Given the description of an element on the screen output the (x, y) to click on. 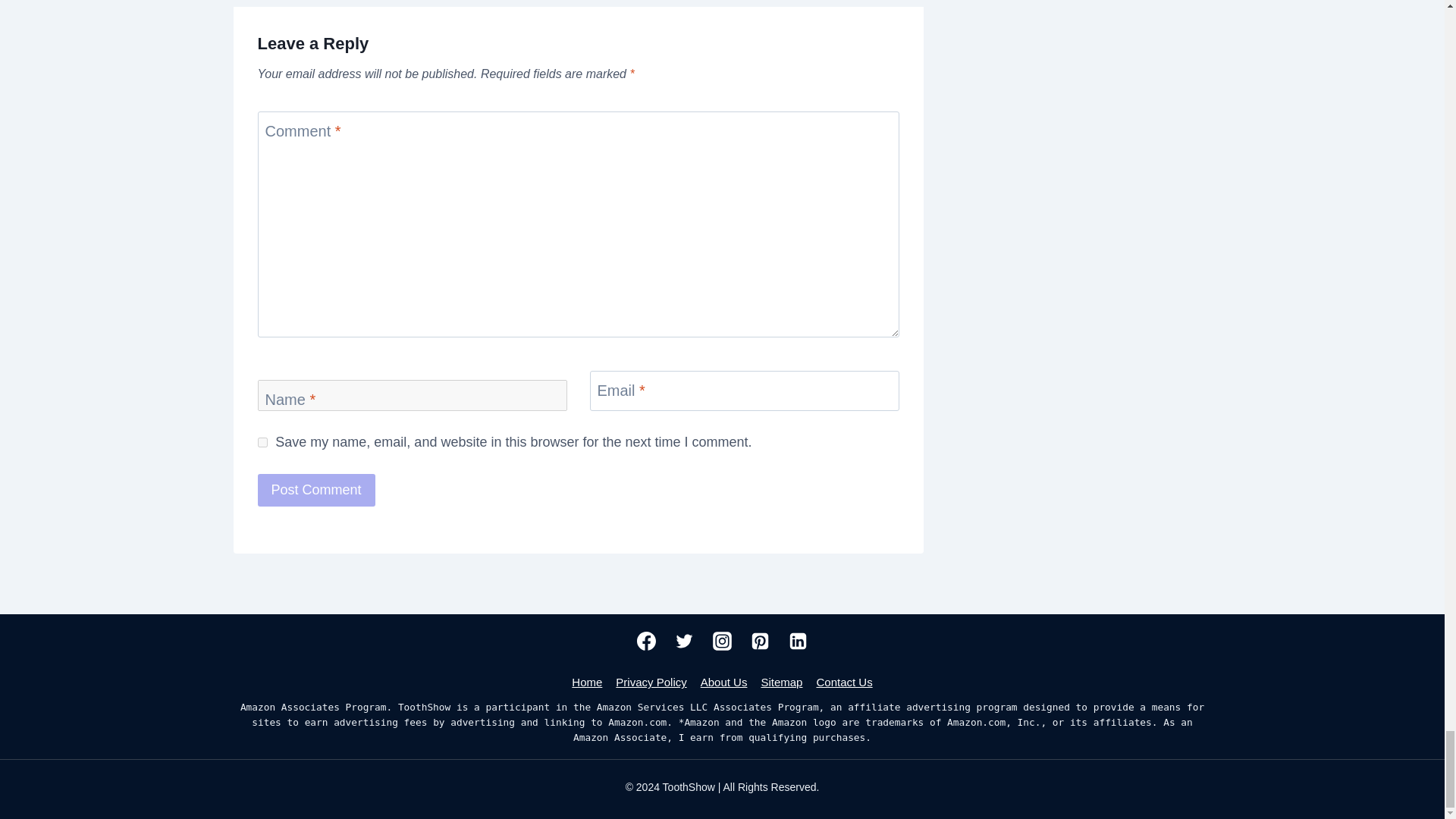
yes (262, 442)
Post Comment (316, 490)
